Given the description of an element on the screen output the (x, y) to click on. 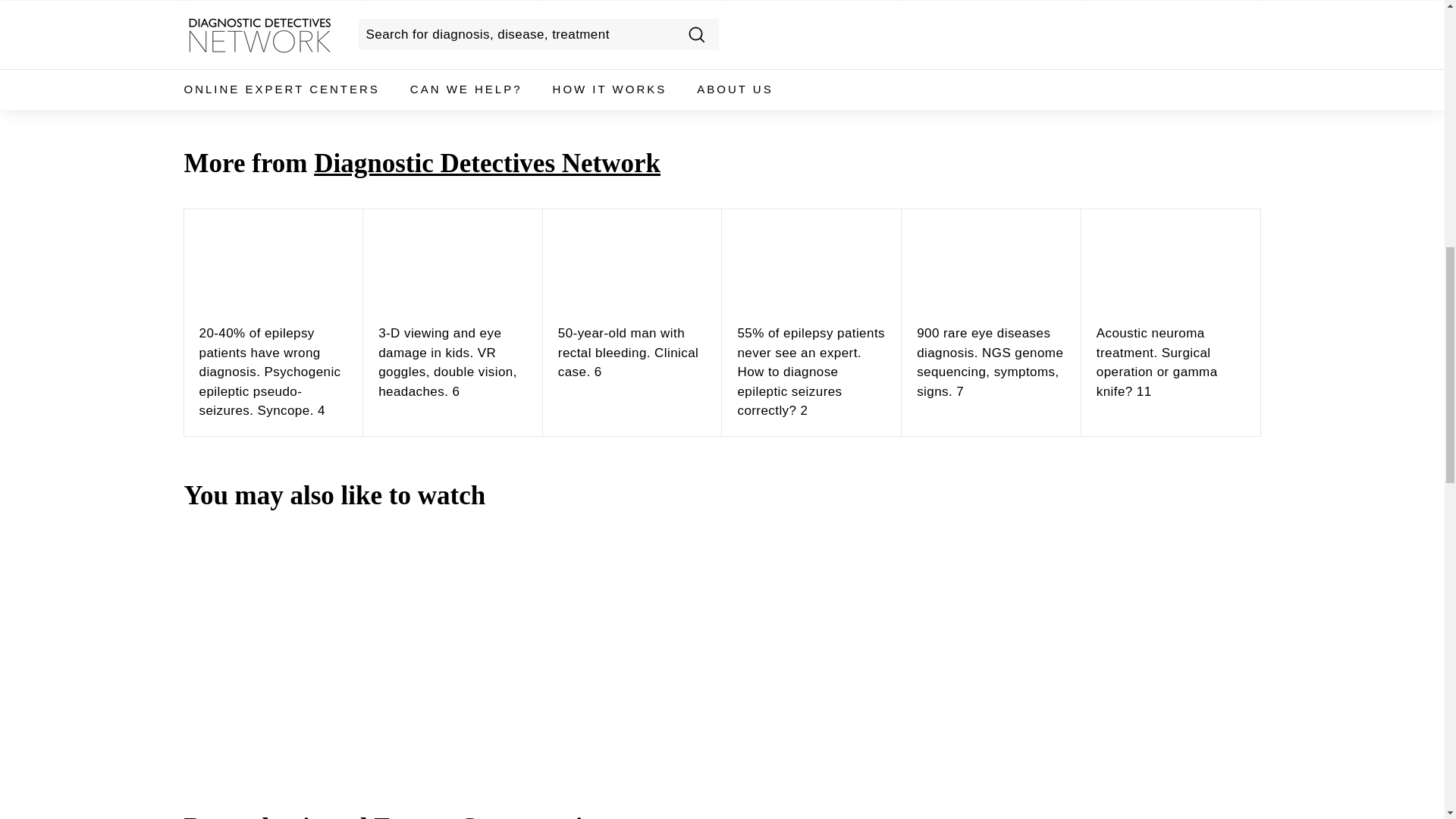
Diagnostic Detectives Network (487, 163)
